Given the description of an element on the screen output the (x, y) to click on. 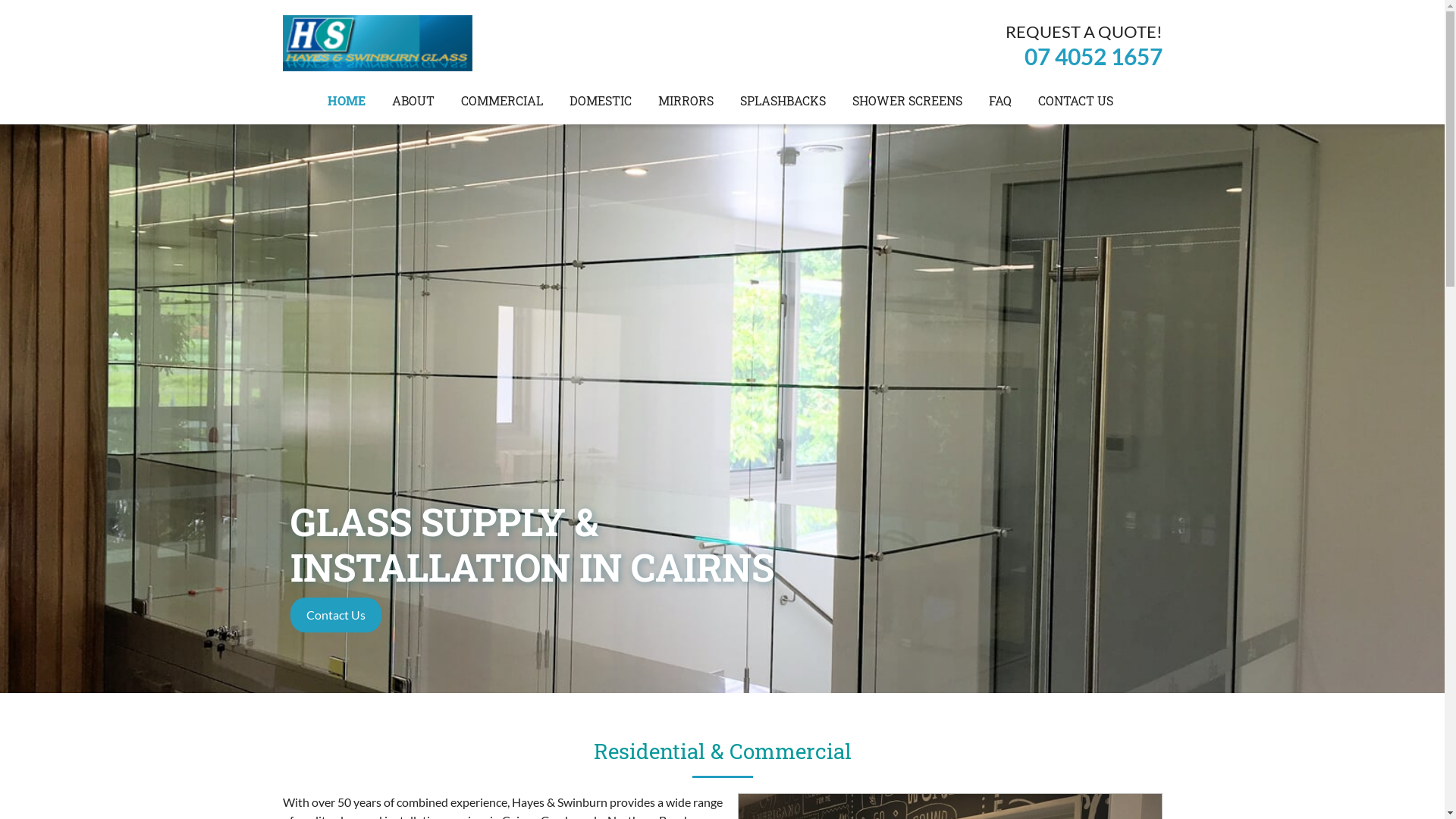
Contact Us Element type: text (334, 614)
SPLASHBACKS Element type: text (782, 100)
CONTACT US Element type: text (1075, 100)
FAQ Element type: text (999, 100)
Contact Us Element type: text (334, 614)
DOMESTIC Element type: text (600, 100)
SHOWER SCREENS Element type: text (906, 100)
07 4052 1657 Element type: text (1092, 55)
HOME Element type: text (346, 100)
ABOUT Element type: text (412, 100)
COMMERCIAL Element type: text (501, 100)
MIRRORS Element type: text (685, 100)
